Given the description of an element on the screen output the (x, y) to click on. 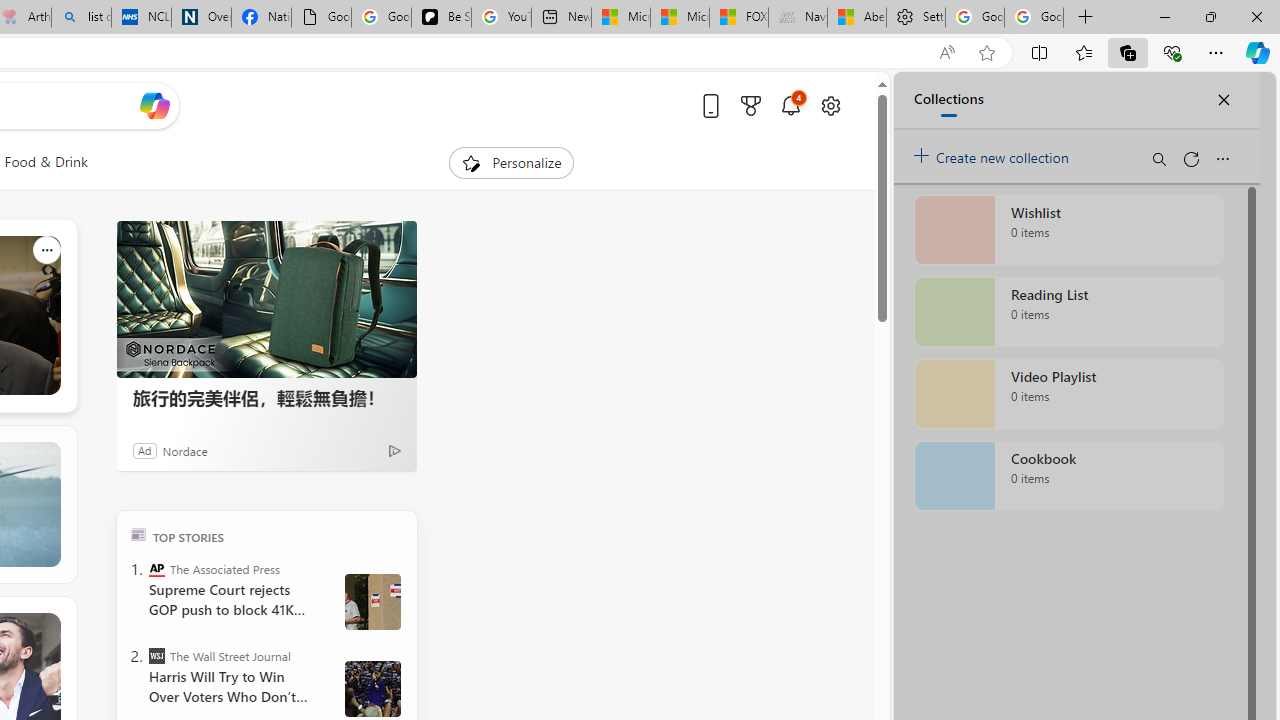
The Associated Press (156, 568)
